Given the description of an element on the screen output the (x, y) to click on. 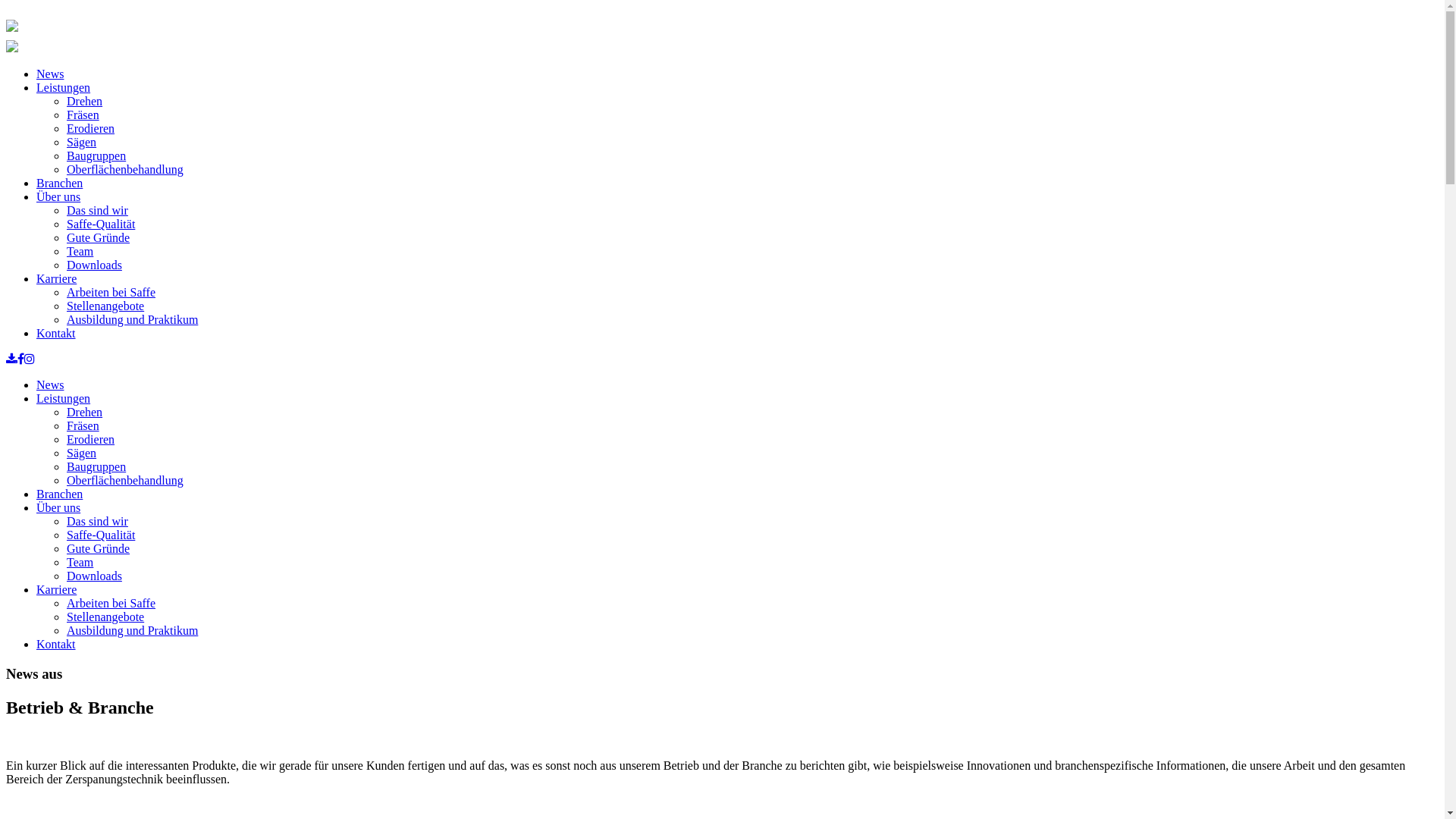
Das sind wir Element type: text (97, 209)
Karriere Element type: text (56, 589)
Team Element type: text (79, 250)
Baugruppen Element type: text (95, 466)
Karriere Element type: text (56, 278)
Stellenangebote Element type: text (105, 616)
Branchen Element type: text (59, 493)
Leistungen Element type: text (63, 398)
Erodieren Element type: text (90, 439)
Leistungen Element type: text (63, 87)
Baugruppen Element type: text (95, 155)
Das sind wir Element type: text (97, 520)
Kontakt Element type: text (55, 332)
News Element type: text (49, 384)
Downloads Element type: text (94, 575)
Stellenangebote Element type: text (105, 305)
Ausbildung und Praktikum Element type: text (131, 630)
Kontakt Element type: text (55, 643)
News Element type: text (49, 73)
Drehen Element type: text (84, 411)
Ausbildung und Praktikum Element type: text (131, 319)
Erodieren Element type: text (90, 128)
Downloads Element type: text (94, 264)
Arbeiten bei Saffe Element type: text (110, 602)
Team Element type: text (79, 561)
Arbeiten bei Saffe Element type: text (110, 291)
Branchen Element type: text (59, 182)
Drehen Element type: text (84, 100)
